Given the description of an element on the screen output the (x, y) to click on. 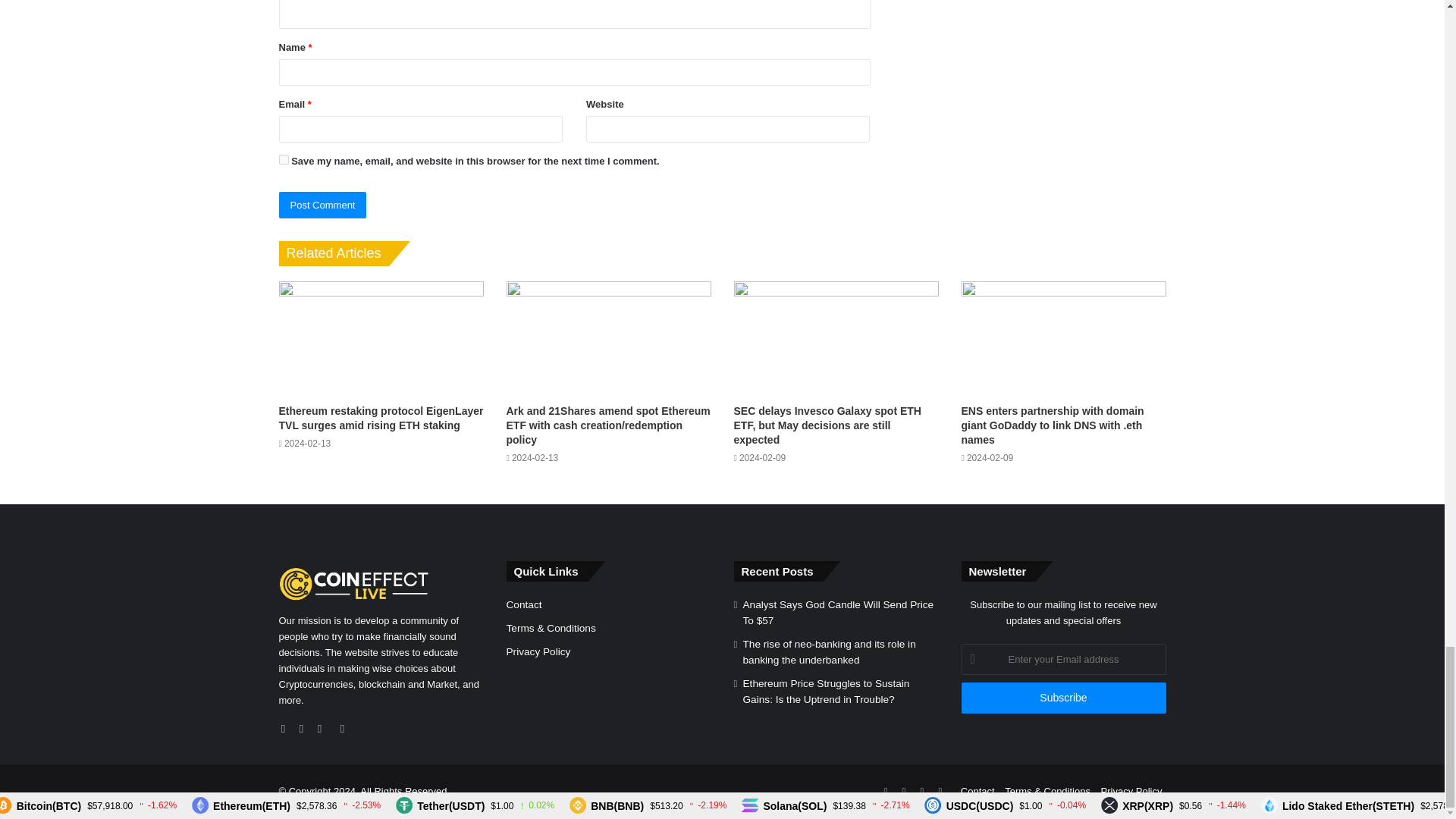
yes (283, 159)
Subscribe (1063, 697)
Post Comment (322, 204)
